Given the description of an element on the screen output the (x, y) to click on. 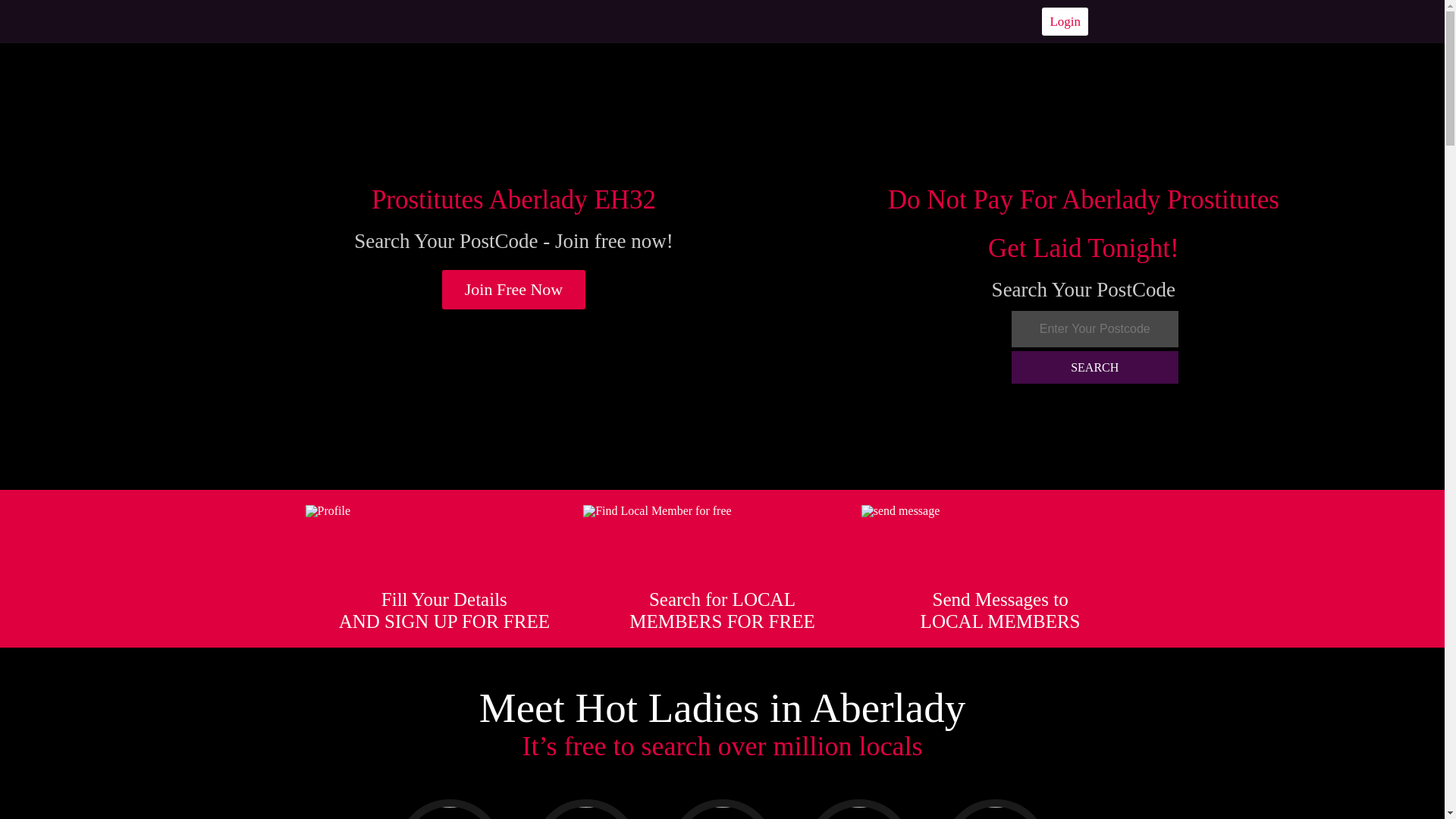
Join (514, 289)
Login (1064, 21)
SEARCH (1094, 367)
Join Free Now (514, 289)
Login (1064, 21)
